Given the description of an element on the screen output the (x, y) to click on. 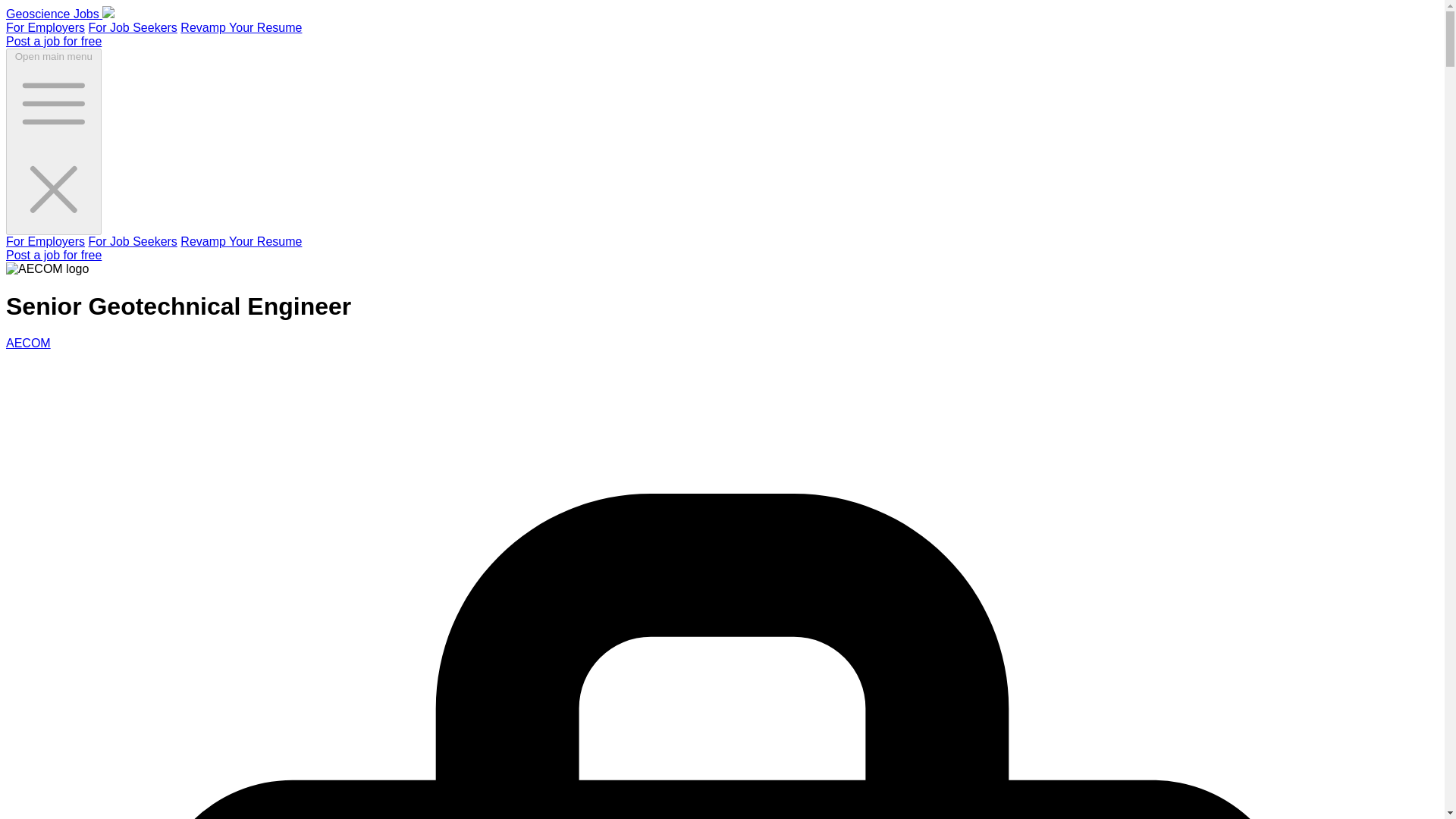
Revamp Your Resume (240, 241)
For Employers (44, 27)
For Employers (44, 241)
Post a job for free (53, 254)
For Job Seekers (131, 241)
Geoscience Jobs (60, 13)
Revamp Your Resume (240, 27)
Open main menu (53, 141)
Post a job for free (53, 41)
AECOM (27, 342)
For Job Seekers (131, 27)
